Given the description of an element on the screen output the (x, y) to click on. 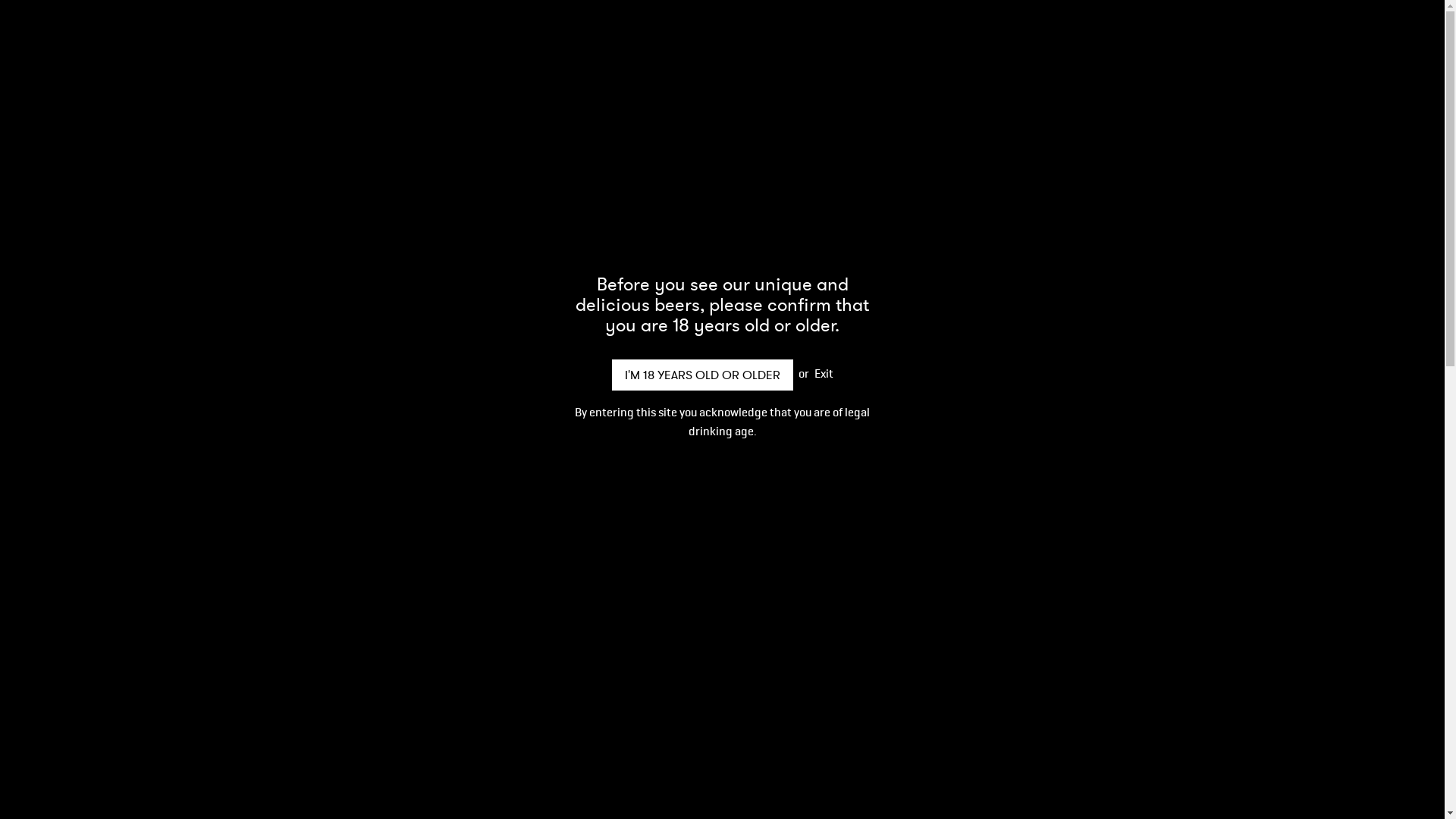
Home Element type: text (63, 47)
About Us Element type: text (186, 47)
Shipping Information Element type: text (295, 47)
Exit Element type: text (823, 373)
I'M 18 YEARS OLD OR OLDER Element type: text (701, 374)
Contact Us Element type: text (411, 47)
Beers Element type: text (120, 47)
ADD TO CART Element type: text (1123, 384)
Ocho Beer on Instagram Element type: hover (1290, 47)
0 Element type: text (1379, 49)
Ocho Beer on Facebook Element type: hover (1259, 47)
